Given the description of an element on the screen output the (x, y) to click on. 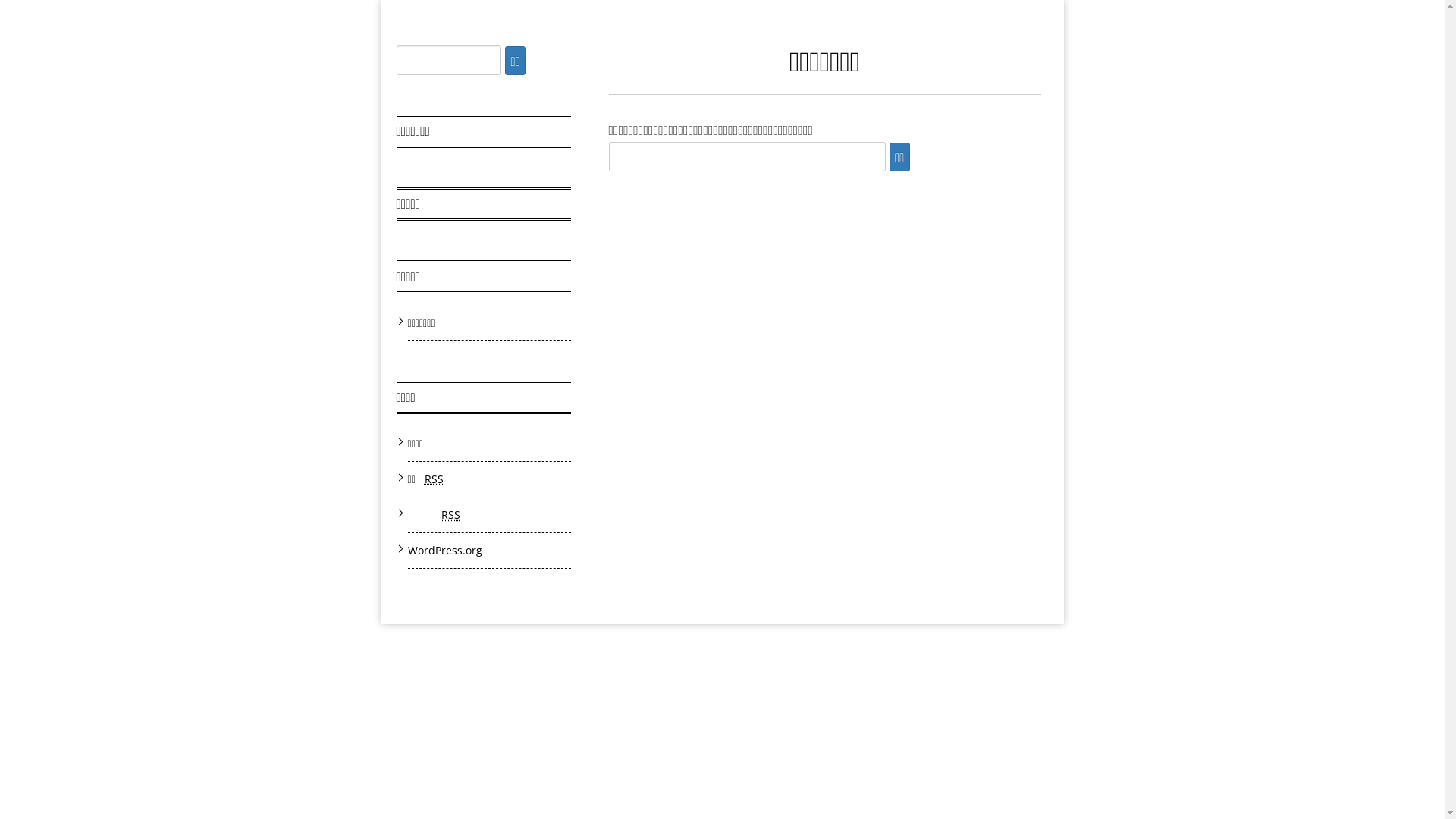
WordPress.org Element type: text (444, 549)
